Given the description of an element on the screen output the (x, y) to click on. 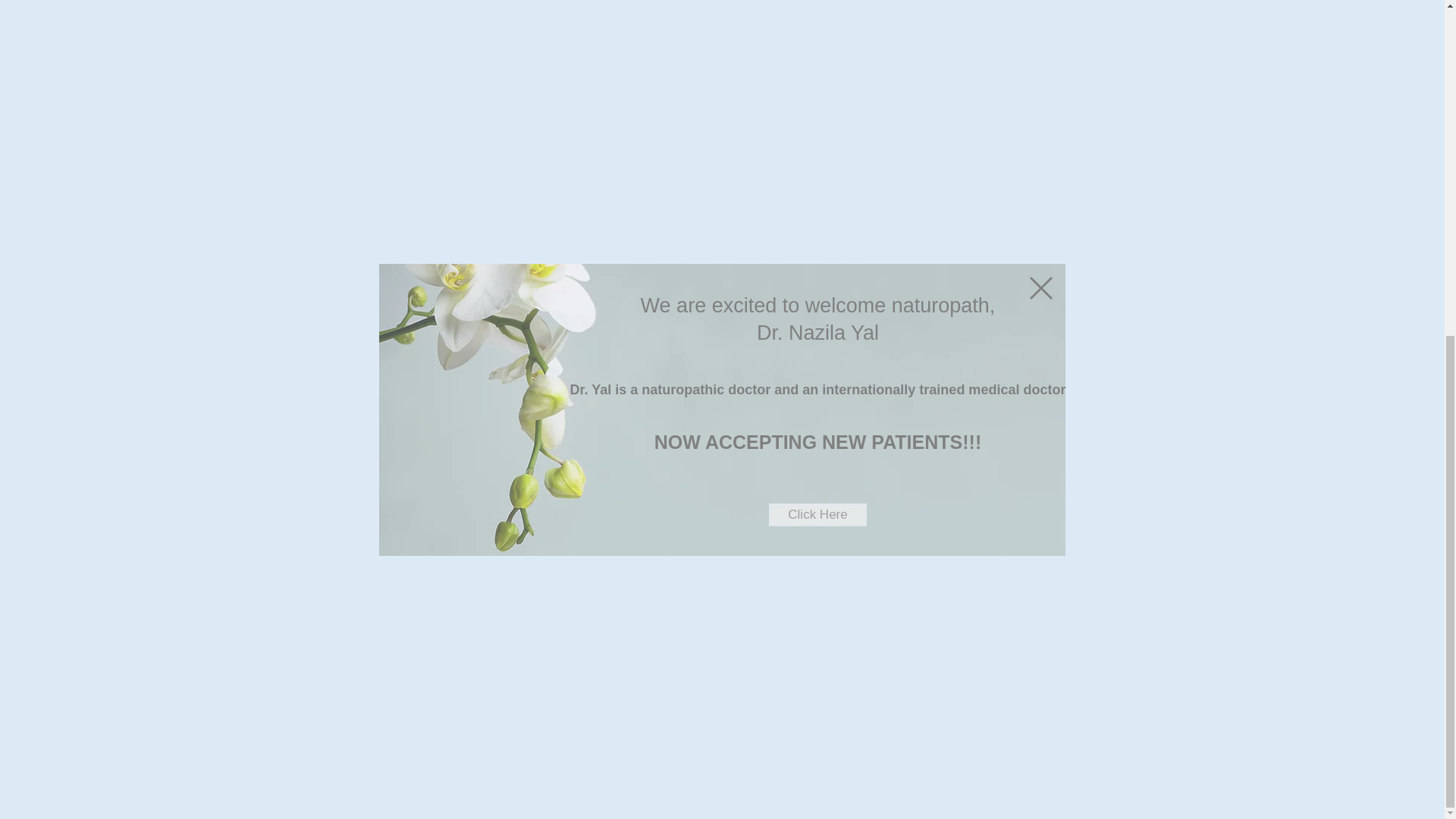
3best rated 2023.jpg (1007, 597)
Embedded Content (975, 784)
